Given the description of an element on the screen output the (x, y) to click on. 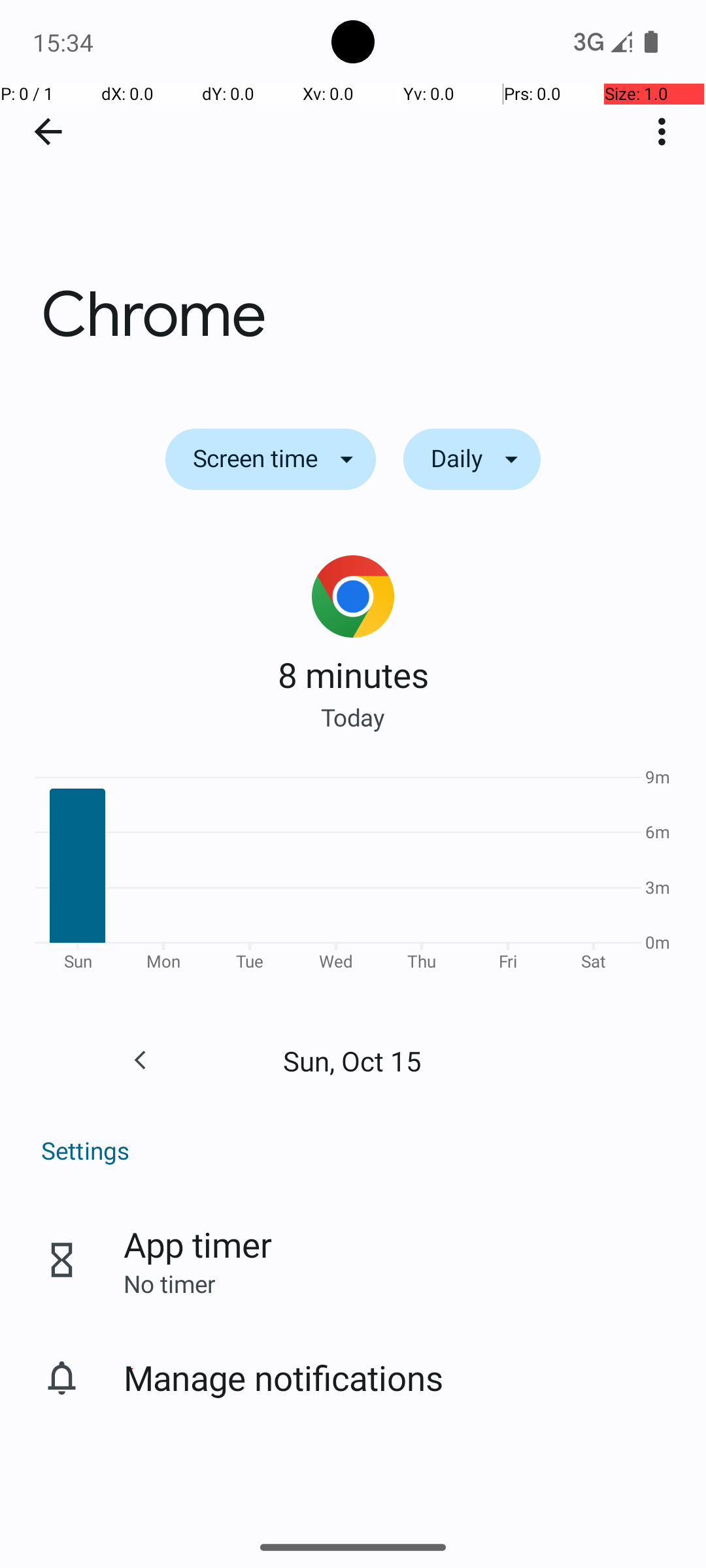
Screen time Element type: android.widget.Spinner (270, 459)
Daily Element type: android.widget.Spinner (471, 459)
8 minutes Element type: android.widget.TextView (353, 674)
Go to the previous day Element type: android.widget.Button (139, 1060)
Bar Chart. Showing App usage data with 7 data points. Element type: android.view.ViewGroup (353, 873)
App timer Element type: android.widget.TextView (197, 1244)
No timer Element type: android.widget.TextView (169, 1283)
Manage notifications Element type: android.widget.TextView (283, 1377)
